Given the description of an element on the screen output the (x, y) to click on. 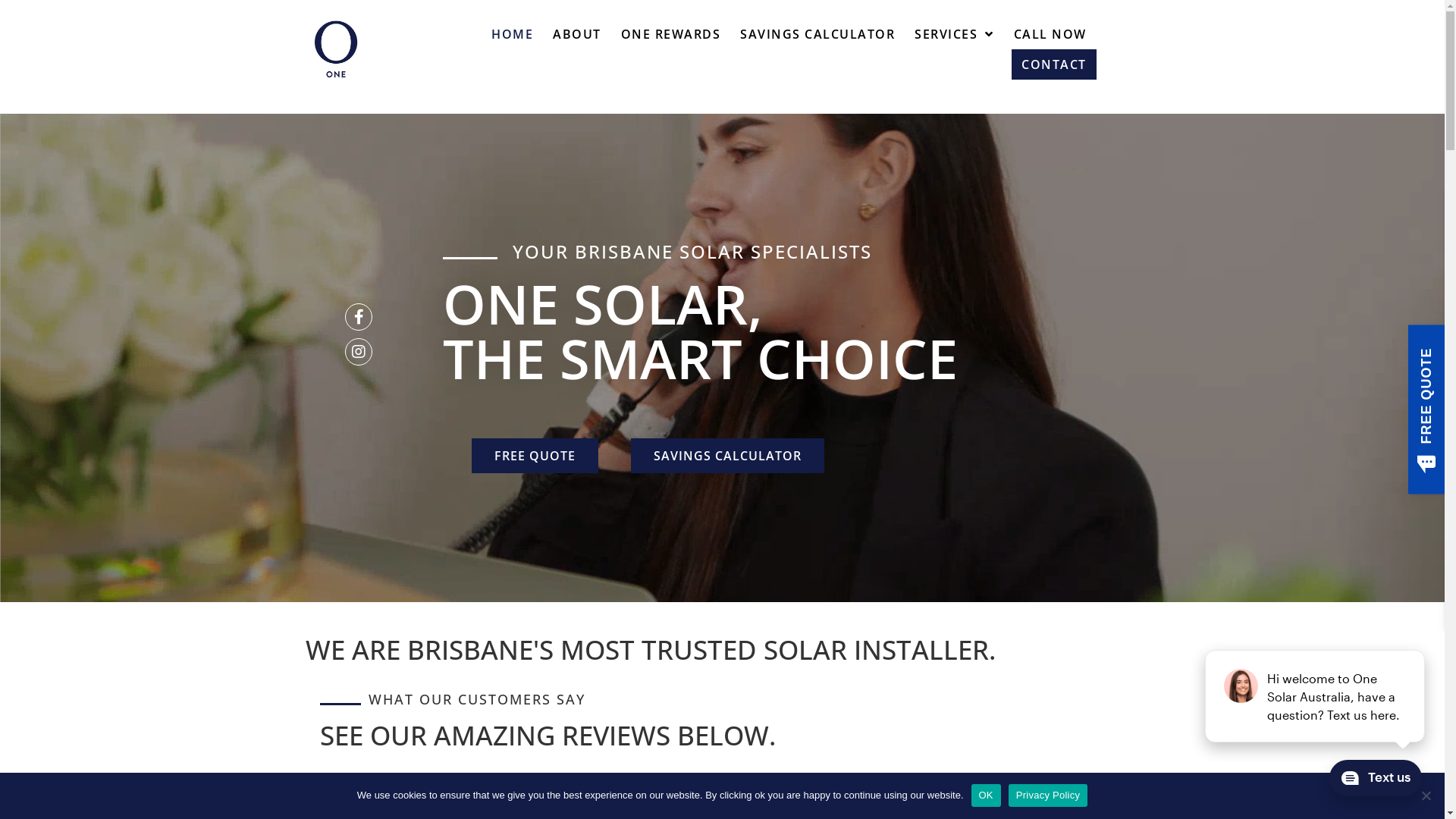
podium webchat widget prompt Element type: hover (1315, 696)
OK Element type: text (985, 795)
CALL NOW Element type: text (1050, 33)
FREE QUOTE Element type: text (534, 455)
SAVINGS CALCULATOR Element type: text (817, 33)
SAVINGS CALCULATOR Element type: text (727, 455)
ONE REWARDS Element type: text (671, 33)
Privacy Policy Element type: text (1047, 795)
HOME Element type: text (511, 33)
ABOUT Element type: text (576, 33)
SERVICES Element type: text (954, 33)
CONTACT Element type: text (1053, 64)
